Given the description of an element on the screen output the (x, y) to click on. 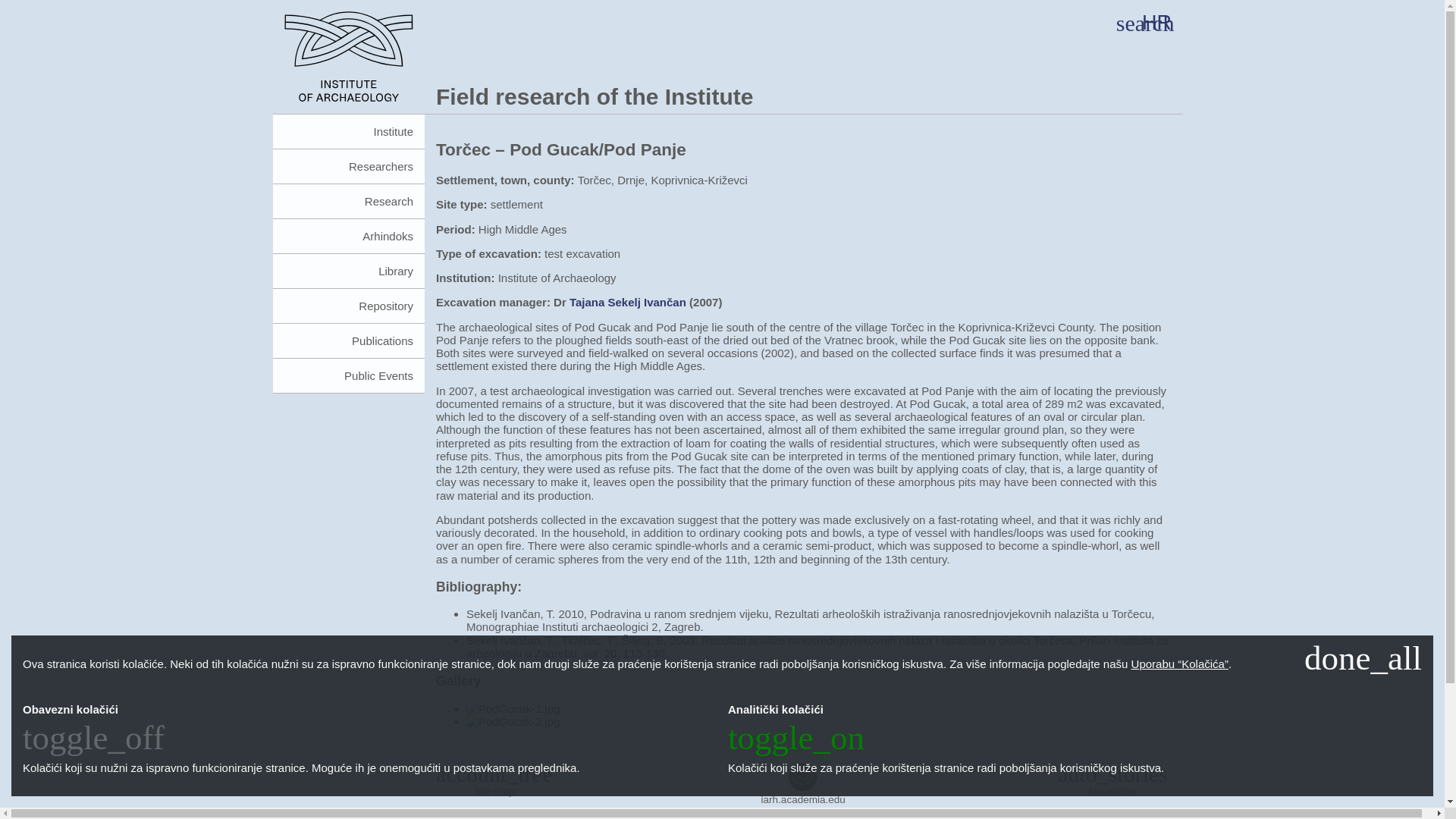
Researchers (349, 166)
Library (349, 271)
Arhindoks (349, 236)
Repository (349, 306)
Institute of Archaeology (354, 62)
Public Events (349, 375)
Publications (349, 340)
Institute (349, 131)
Research (349, 201)
